Given the description of an element on the screen output the (x, y) to click on. 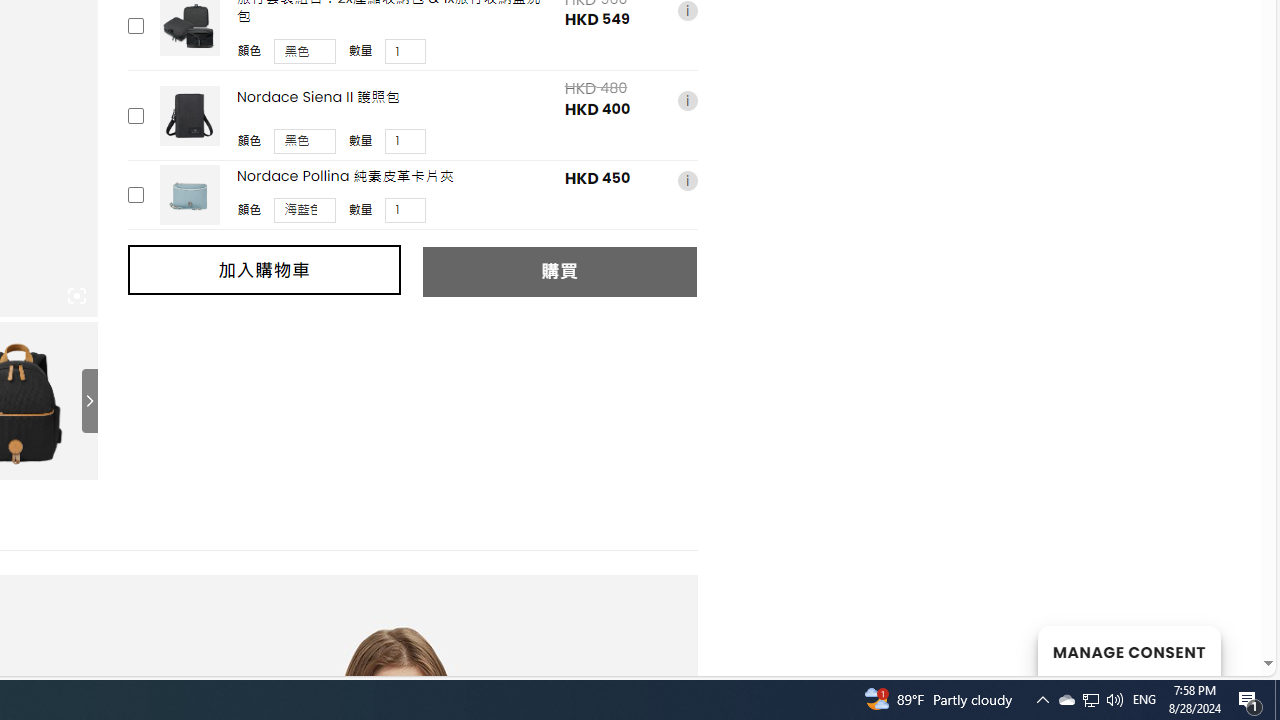
Class: iconic-woothumbs-fullscreen (75, 296)
Add this product to cart (134, 195)
Class: upsell-v2-product-upsell-variable-product-qty-select (406, 210)
i (687, 179)
MANAGE CONSENT (1128, 650)
